Given the description of an element on the screen output the (x, y) to click on. 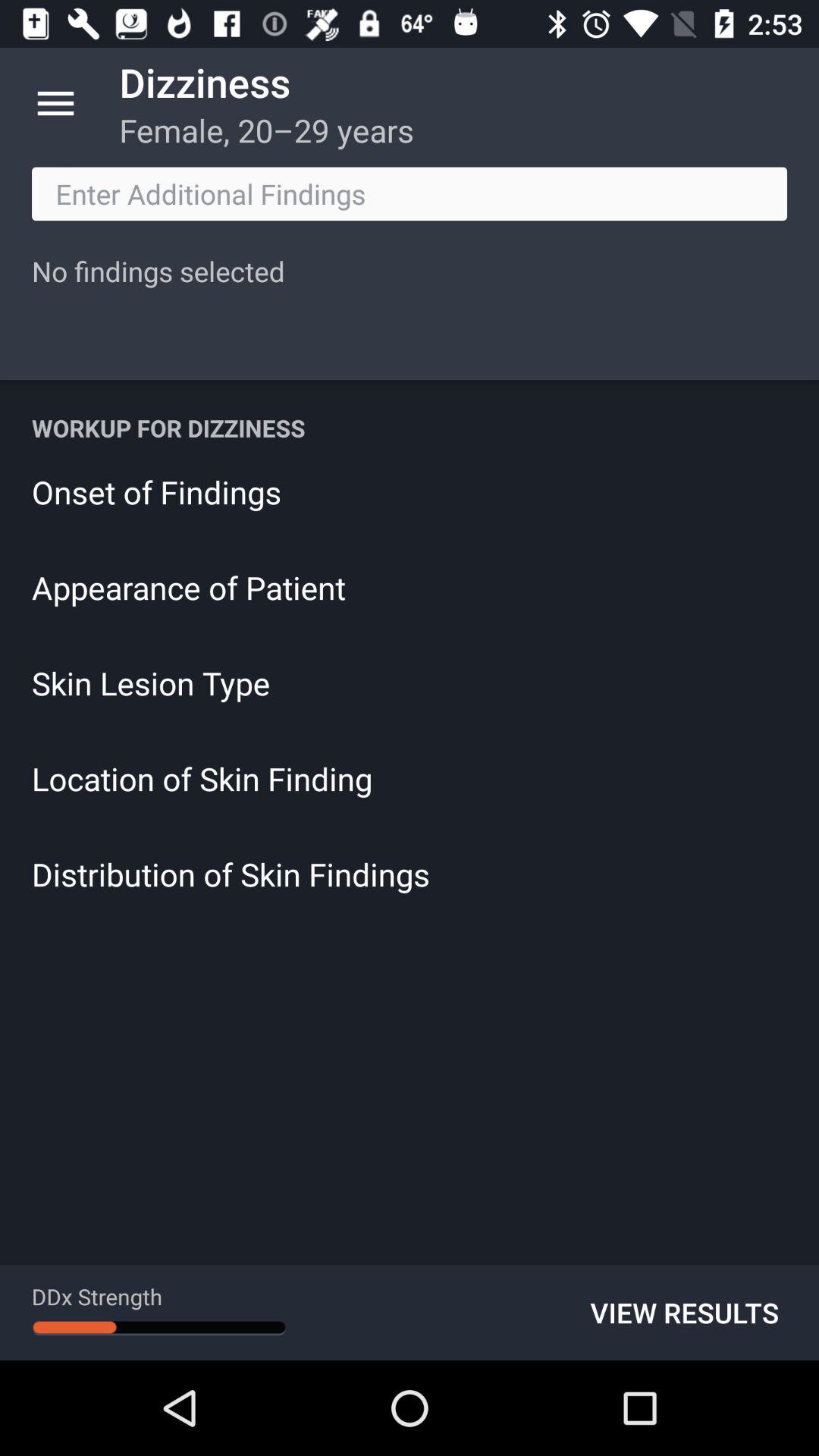
search for content (409, 193)
